Given the description of an element on the screen output the (x, y) to click on. 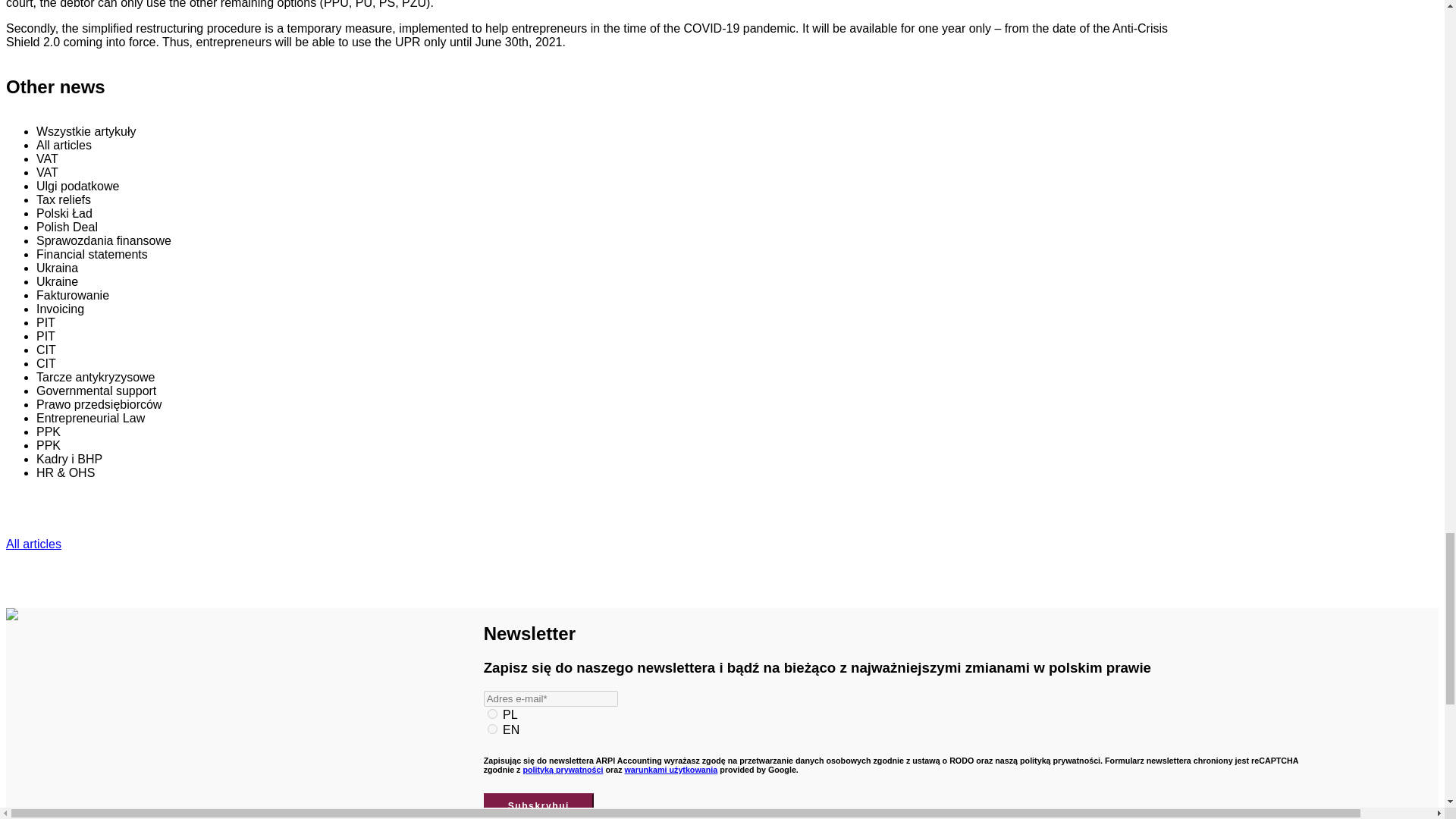
All articles (33, 543)
Subskrybuj (538, 806)
3 (492, 714)
Subskrybuj (538, 806)
Adres e-mail (550, 698)
4 (492, 728)
